Given the description of an element on the screen output the (x, y) to click on. 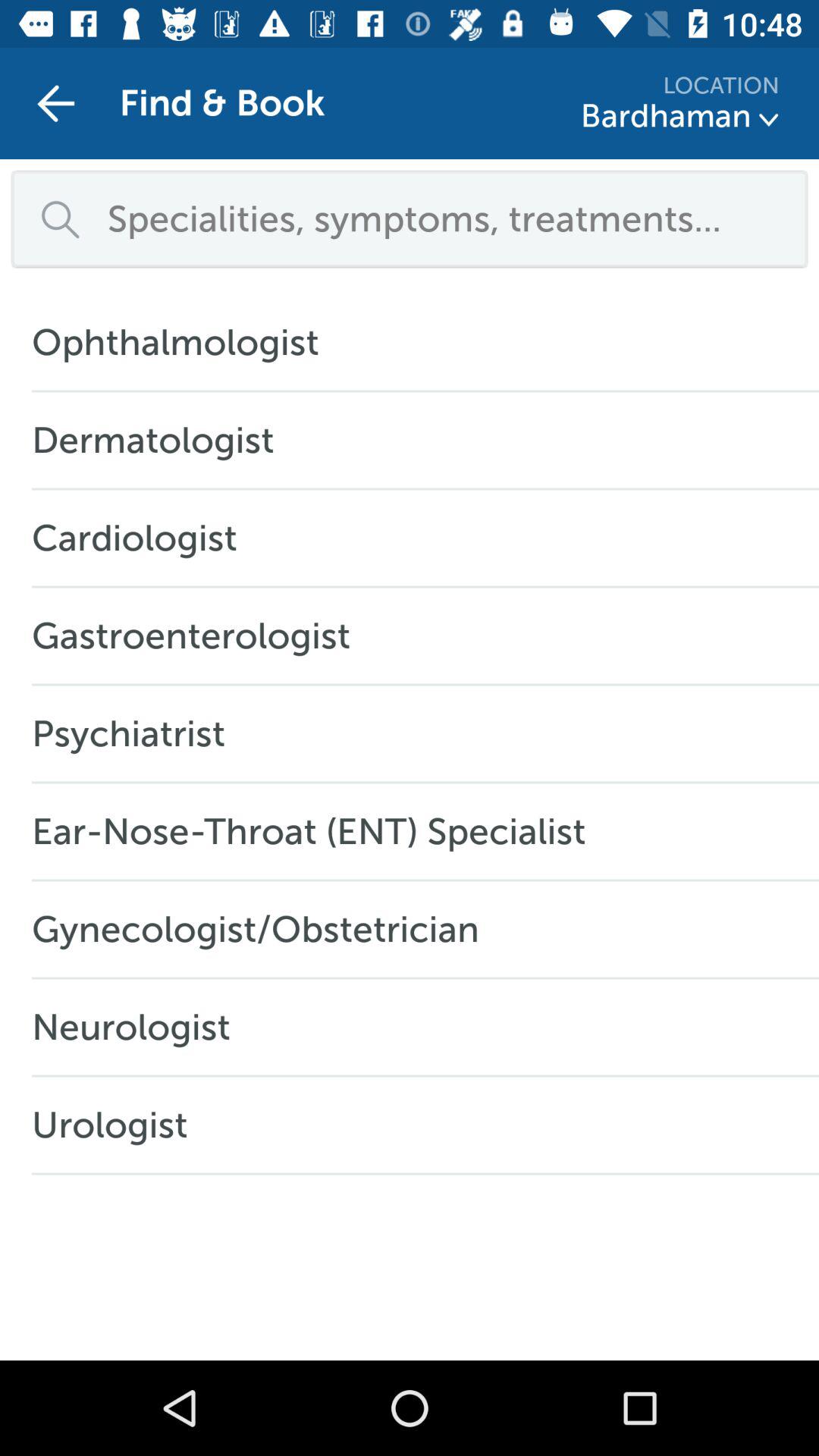
turn on the icon above gastroenterologist item (142, 537)
